Given the description of an element on the screen output the (x, y) to click on. 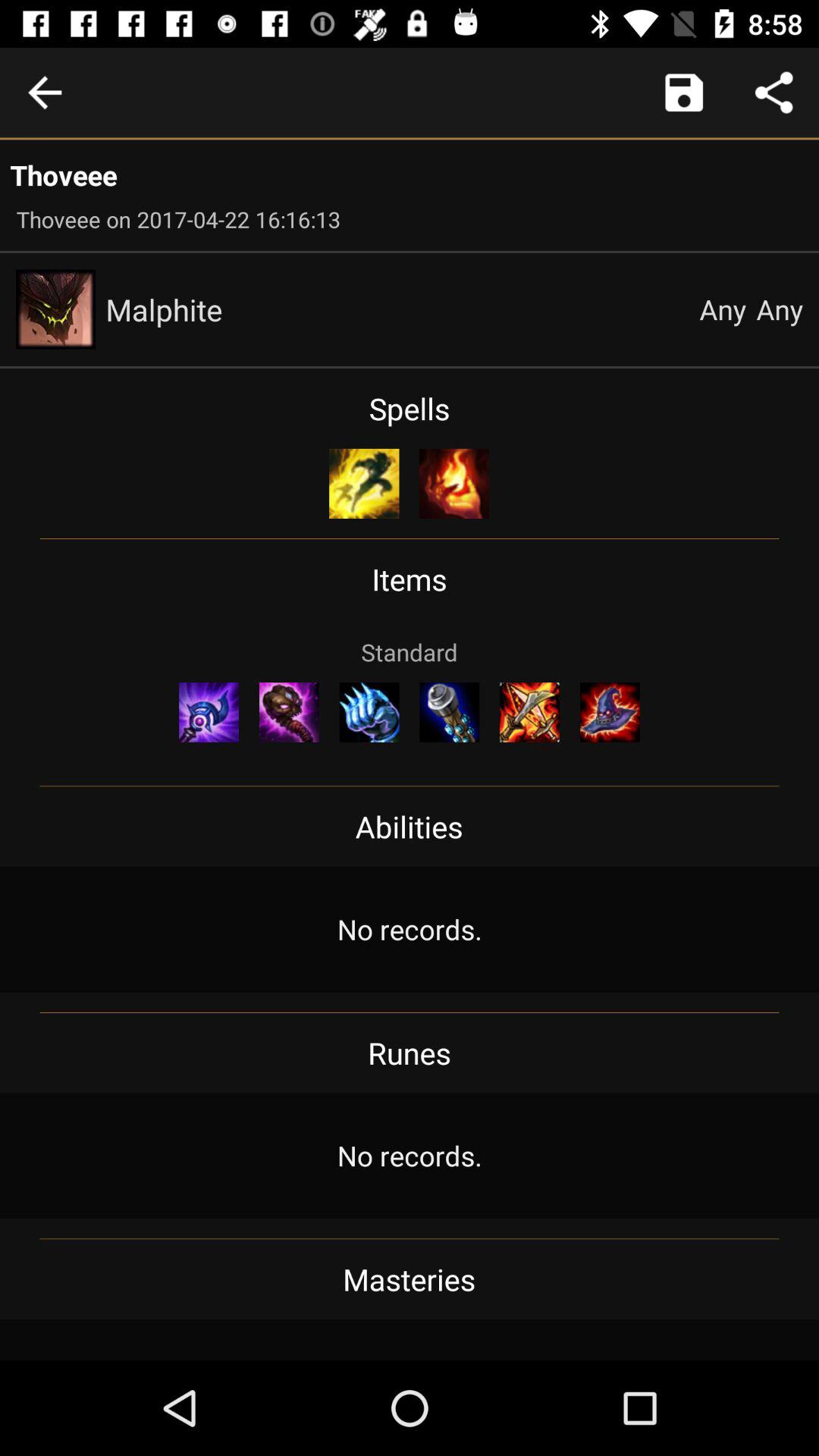
choose icon below the standard icon (449, 712)
